Given the description of an element on the screen output the (x, y) to click on. 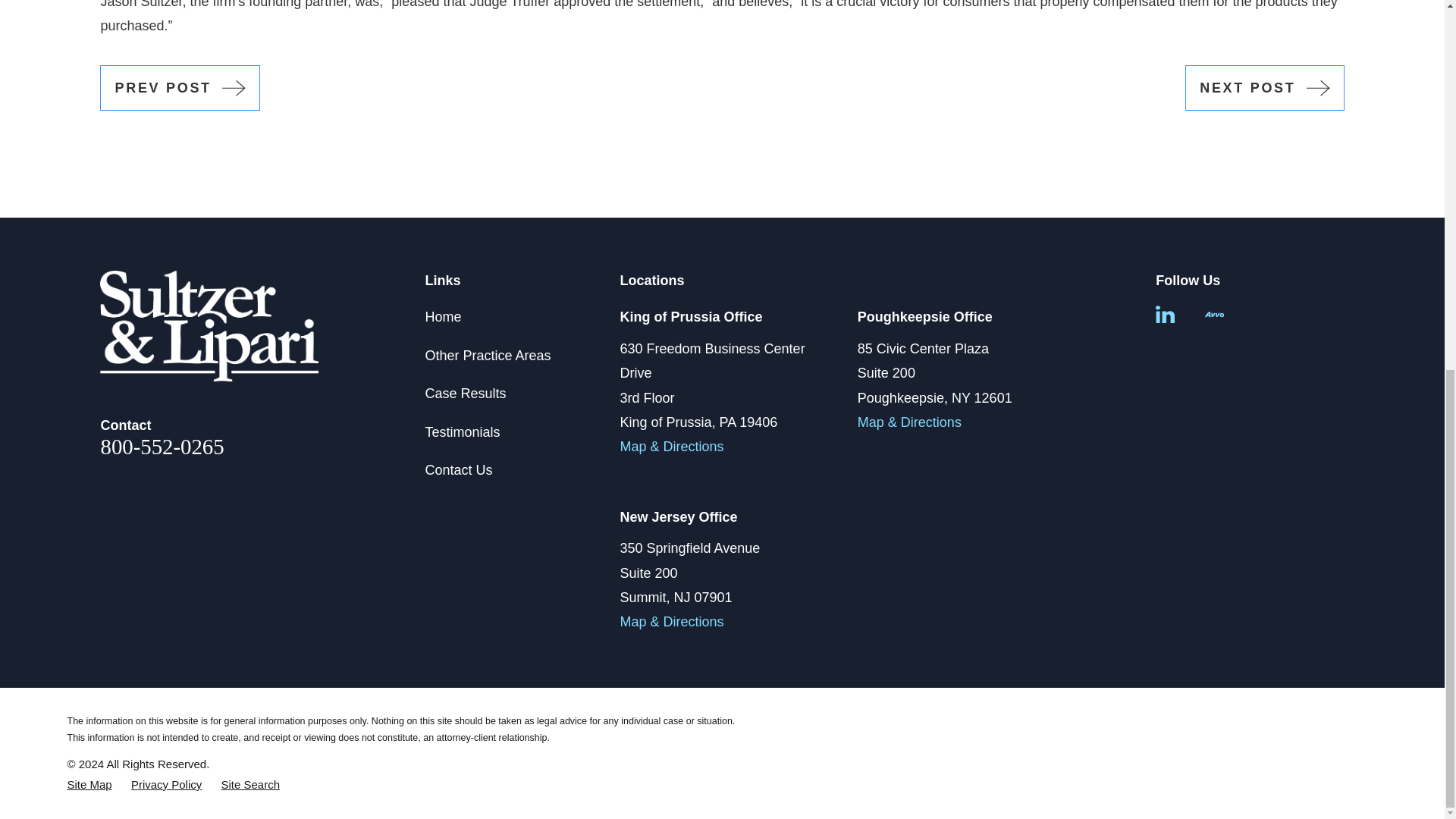
Home (209, 325)
Avvo (1214, 313)
LinkedIn (1165, 313)
